Given the description of an element on the screen output the (x, y) to click on. 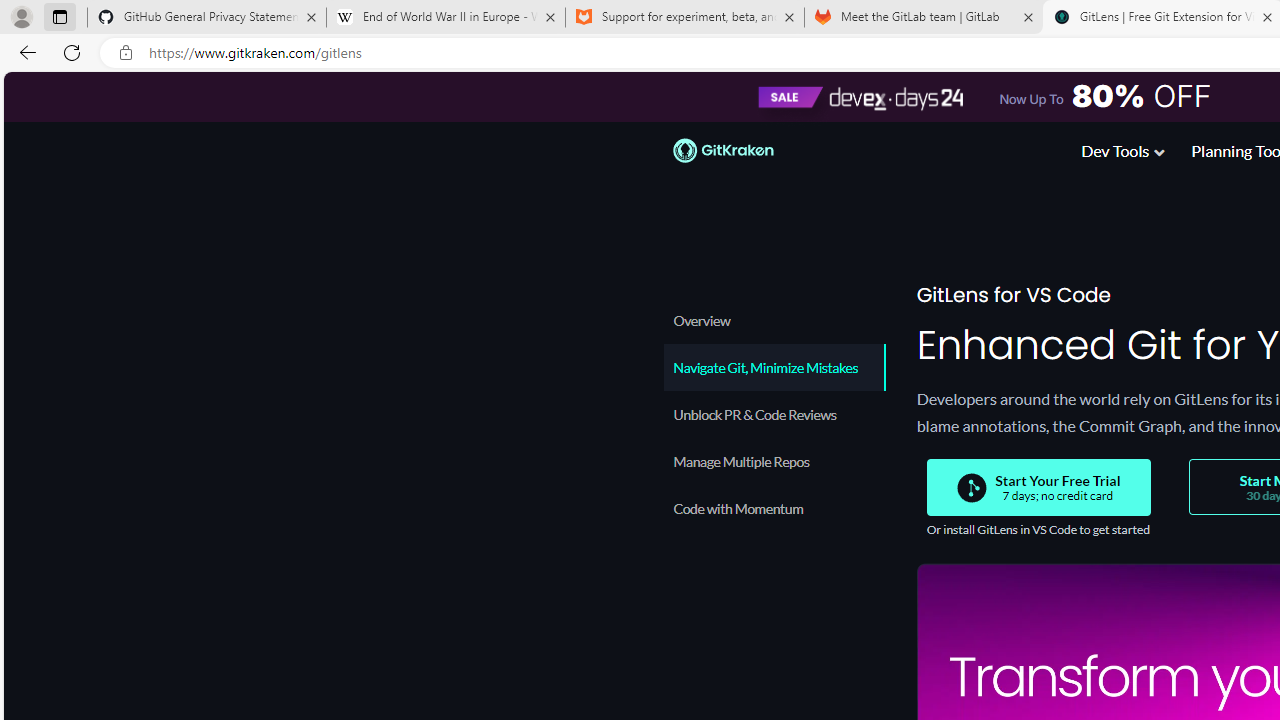
End of World War II in Europe - Wikipedia (445, 17)
Unblock PR & Code Reviews (774, 413)
Navigate Git, Minimize Mistakes (774, 367)
Navigate Git, Minimize Mistakes (773, 367)
Code with Momentum (773, 508)
